Given the description of an element on the screen output the (x, y) to click on. 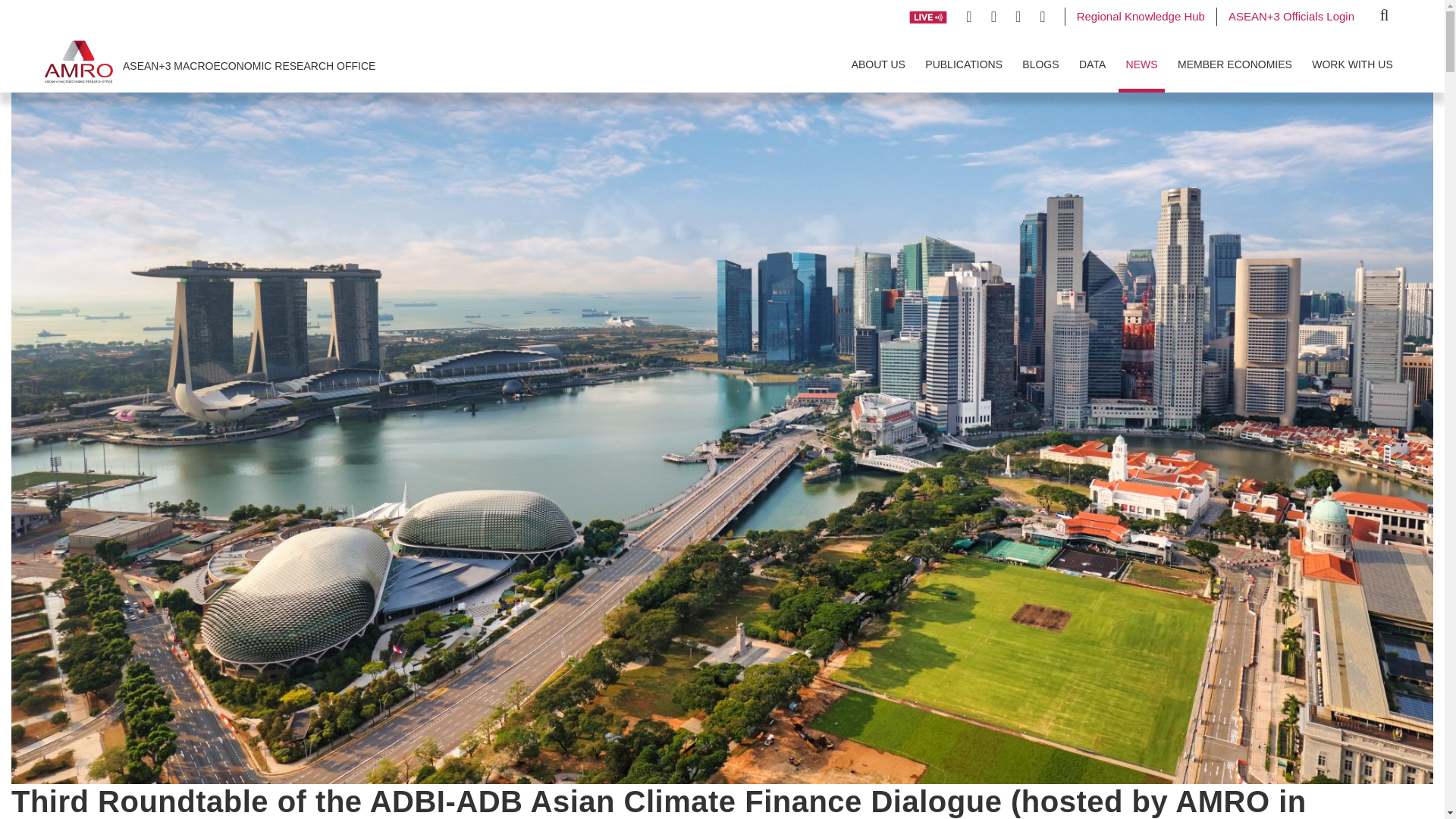
ABOUT US (878, 62)
BLOGS (1039, 62)
Regional Knowledge Hub (1141, 15)
PUBLICATIONS (964, 62)
